Given the description of an element on the screen output the (x, y) to click on. 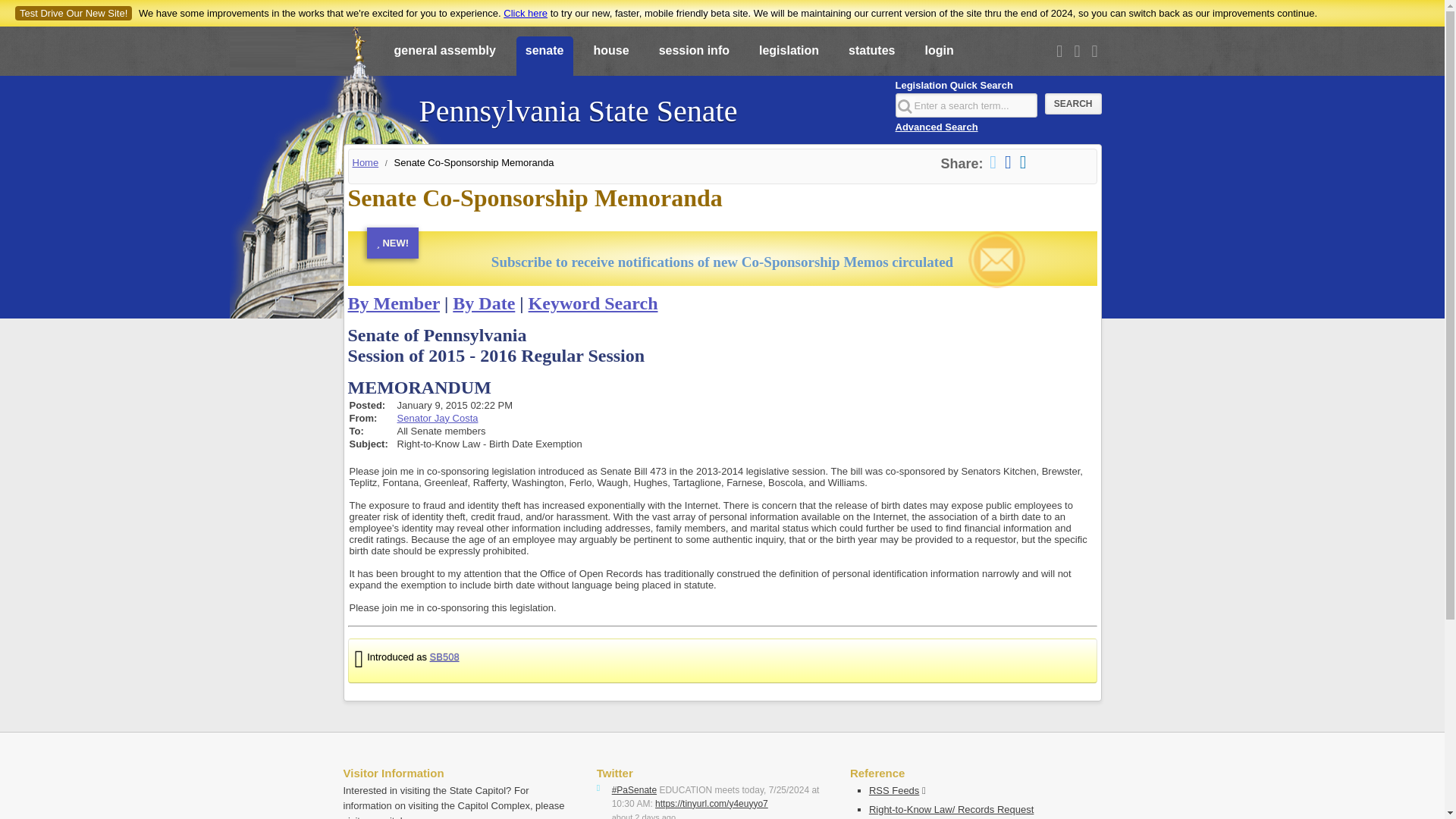
session info (693, 57)
Pennsylvania State Senate (577, 102)
Advanced Search (935, 126)
general assembly (445, 57)
login (938, 57)
statutes (872, 57)
senate (544, 57)
Search (1073, 103)
Click here (525, 12)
legislation (788, 57)
house (610, 57)
Search (1073, 103)
